Given the description of an element on the screen output the (x, y) to click on. 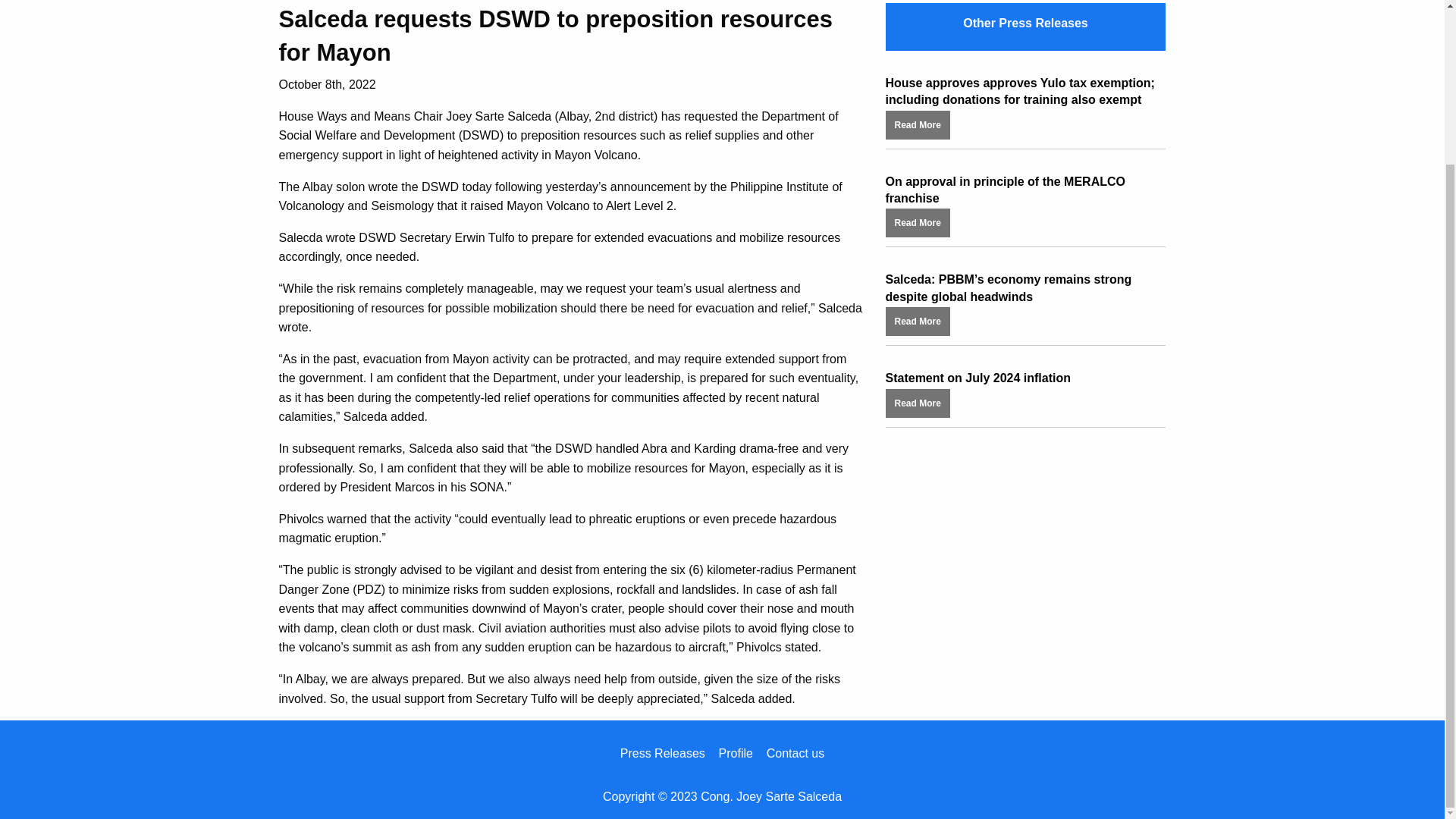
Press Releases (662, 753)
Read More (917, 123)
Profile (735, 753)
Read More (917, 401)
Read More (917, 221)
Contact us (795, 753)
Read More (917, 319)
